Given the description of an element on the screen output the (x, y) to click on. 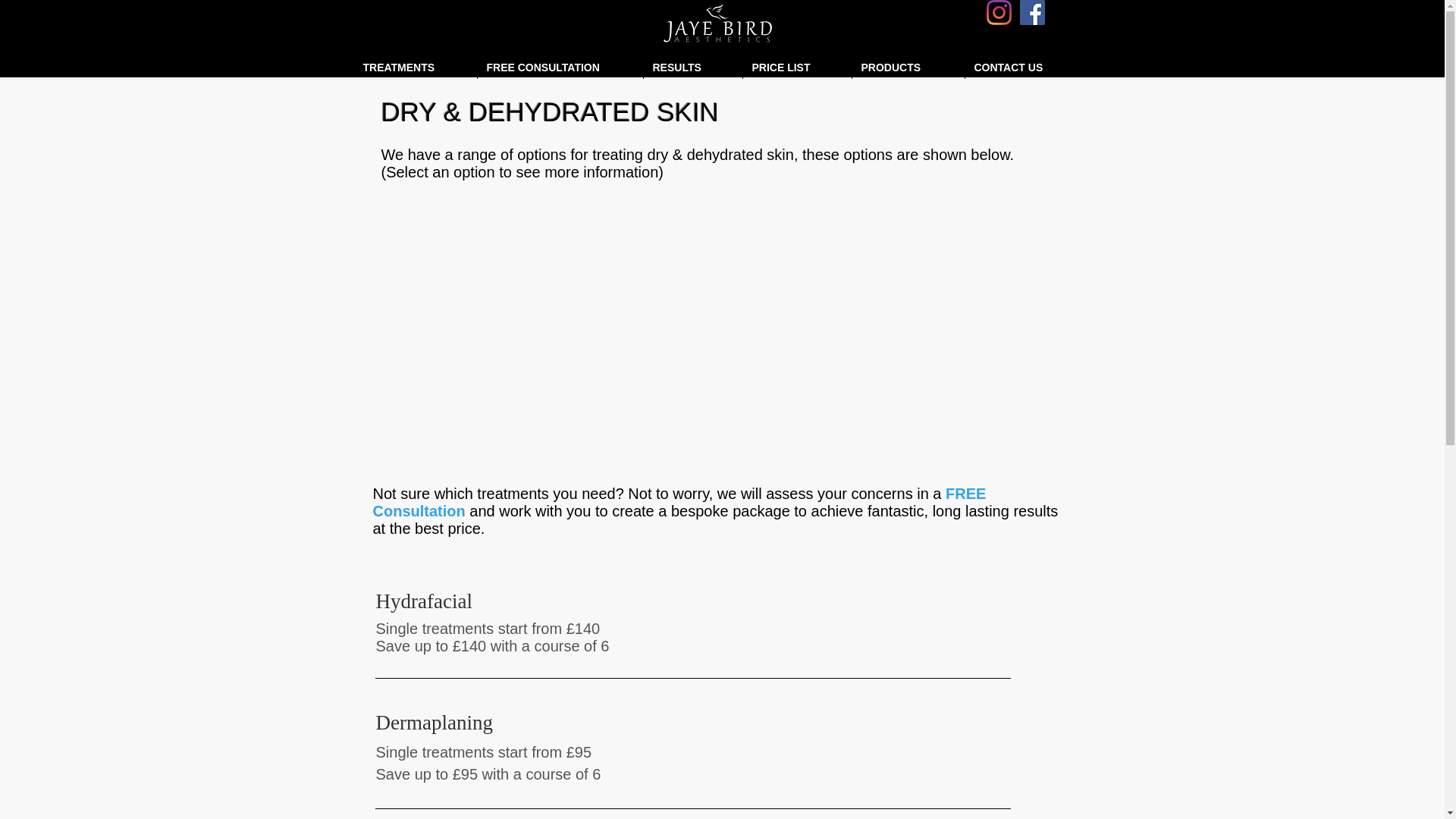
FREE CONSULTATION (560, 67)
PRICE LIST (796, 67)
PRODUCTS (907, 67)
CONTACT US (1025, 67)
RESULTS (692, 67)
FREE (964, 493)
